Given the description of an element on the screen output the (x, y) to click on. 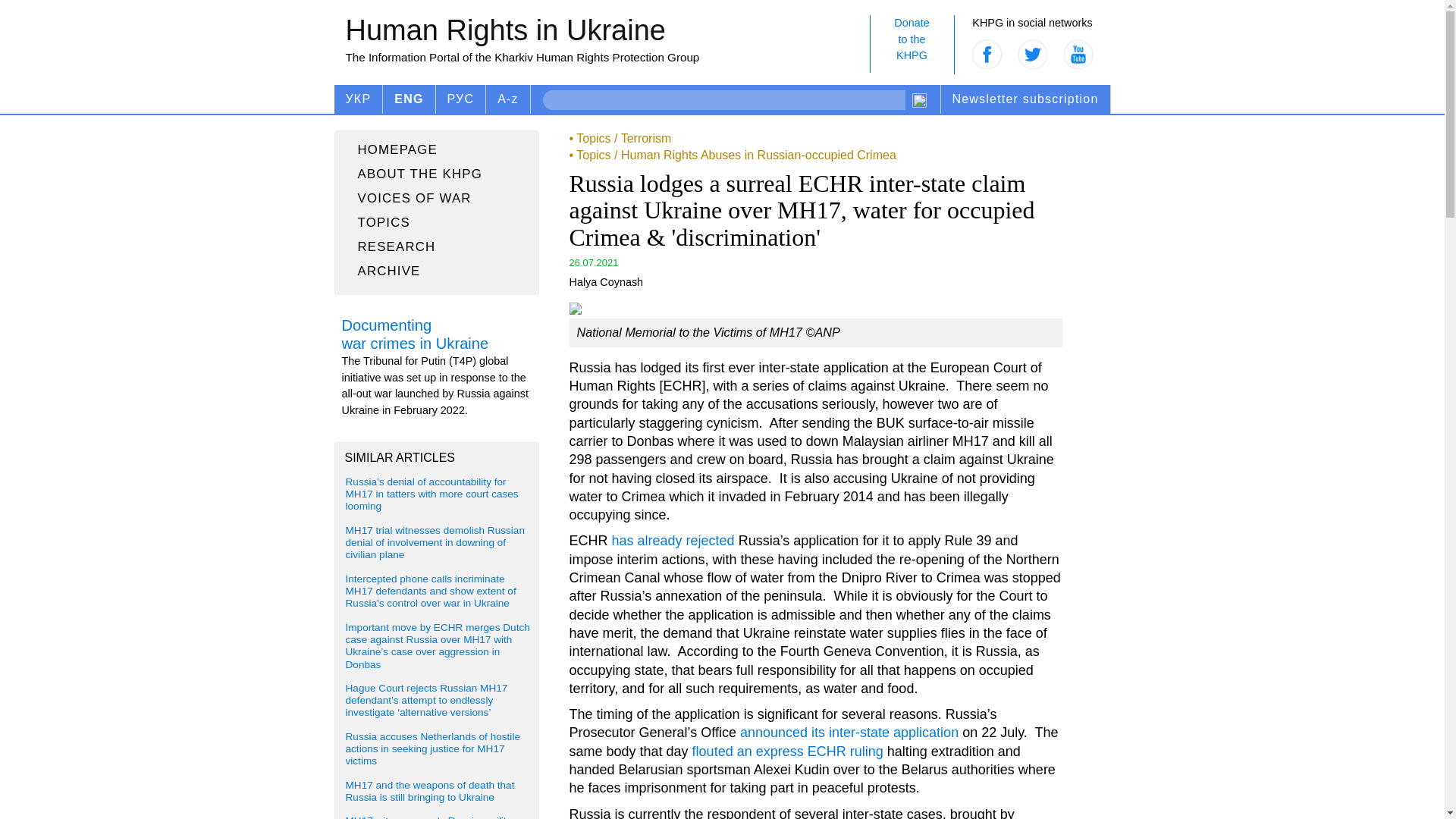
Newsletter subscription (1024, 99)
A-z (507, 99)
HOMEPAGE (437, 149)
TOPICS (911, 43)
VOICES OF WAR (437, 222)
ABOUT THE KHPG (437, 198)
